Given the description of an element on the screen output the (x, y) to click on. 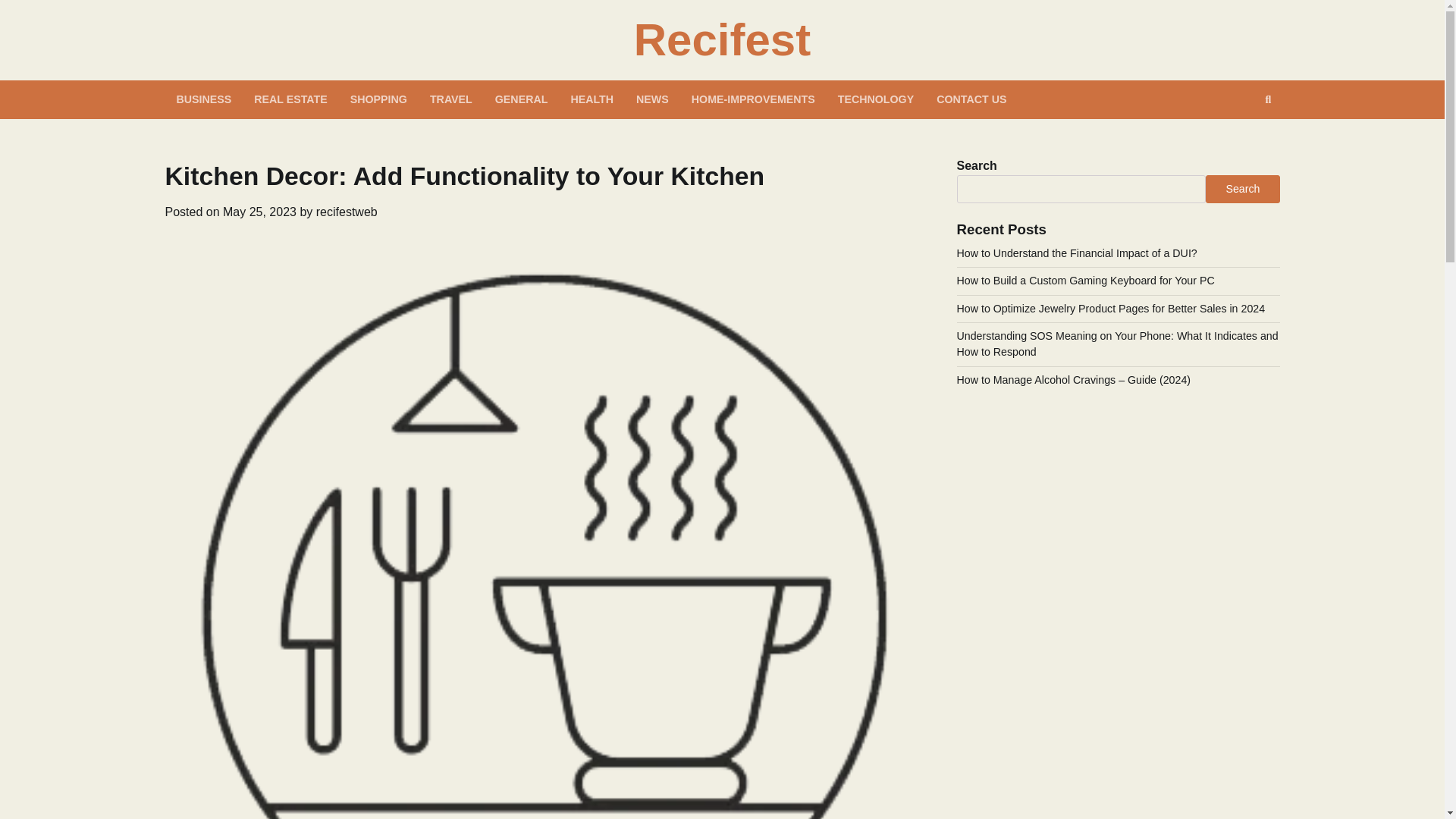
CONTACT US (970, 99)
recifestweb (346, 211)
HEALTH (591, 99)
BUSINESS (204, 99)
May 25, 2023 (259, 211)
HOME-IMPROVEMENTS (753, 99)
How to Build a Custom Gaming Keyboard for Your PC (1085, 280)
NEWS (651, 99)
Search (1268, 99)
